Given the description of an element on the screen output the (x, y) to click on. 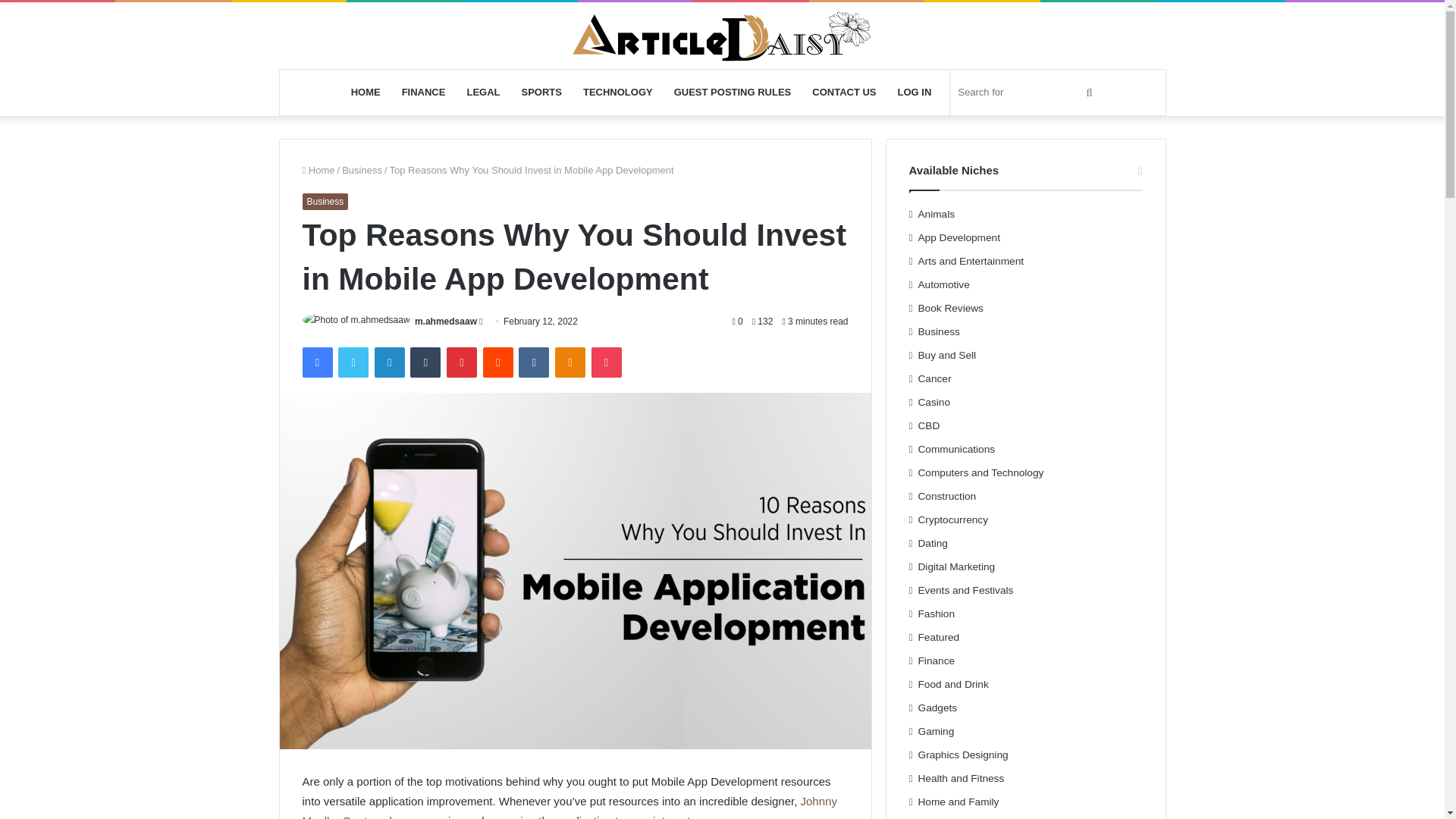
FINANCE (424, 92)
LOG IN (914, 92)
Tumblr (425, 362)
Search for (1026, 92)
Article Daisy (722, 35)
Reddit (498, 362)
HOME (365, 92)
VKontakte (533, 362)
Facebook (316, 362)
SPORTS (541, 92)
Business (324, 201)
m.ahmedsaaw (445, 321)
Business (361, 170)
TECHNOLOGY (617, 92)
Twitter (352, 362)
